Given the description of an element on the screen output the (x, y) to click on. 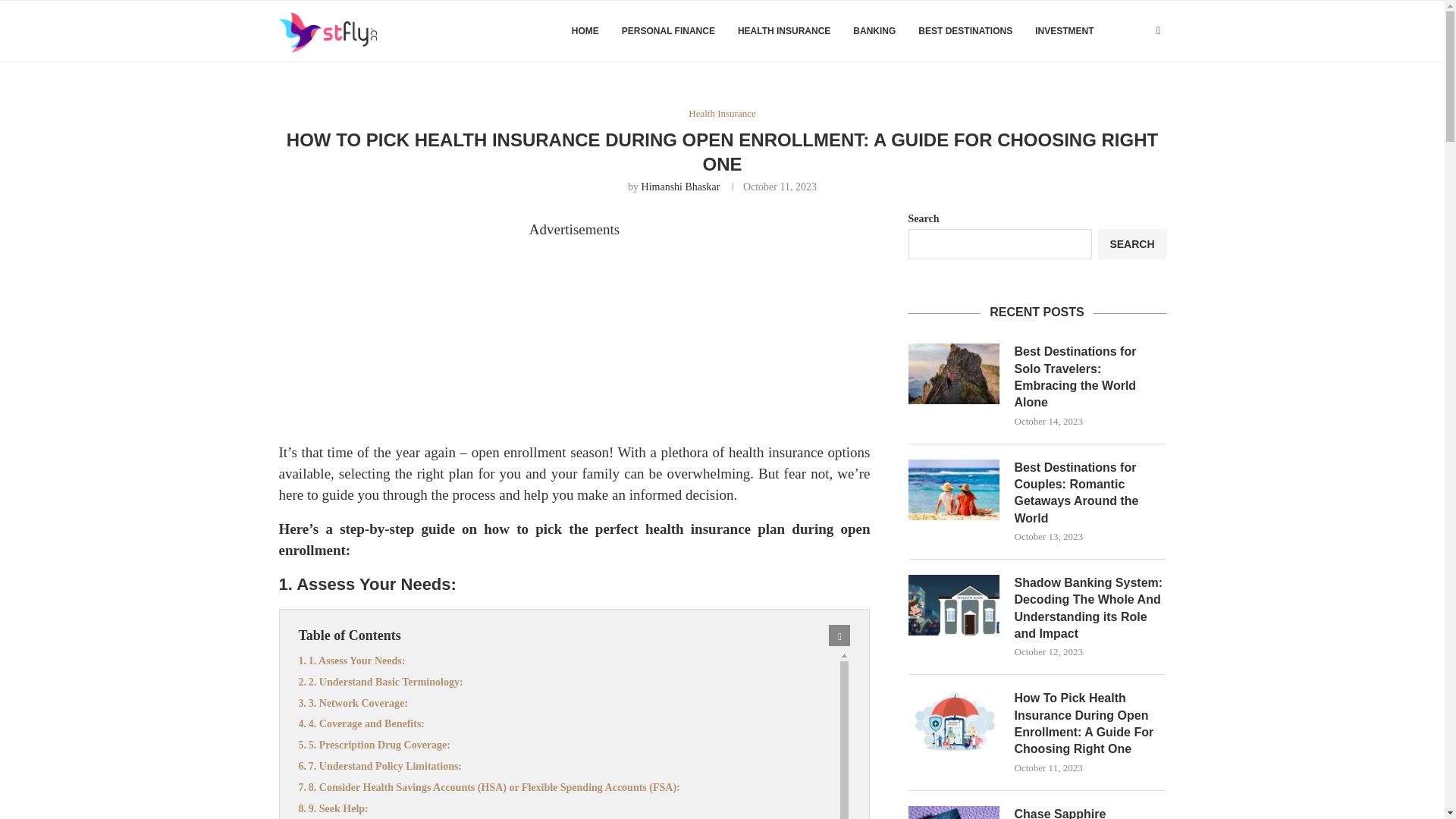
2. Understand Basic Terminology: (569, 682)
4. Coverage and Benefits: (569, 723)
1. Assess Your Needs: (569, 660)
9. Seek Help: (569, 809)
4. Coverage and Benefits: (569, 723)
5. Prescription Drug Coverage: (569, 745)
7. Understand Policy Limitations: (569, 766)
INVESTMENT (1064, 30)
2. Understand Basic Terminology: (569, 682)
5. Prescription Drug Coverage: (569, 745)
